Given the description of an element on the screen output the (x, y) to click on. 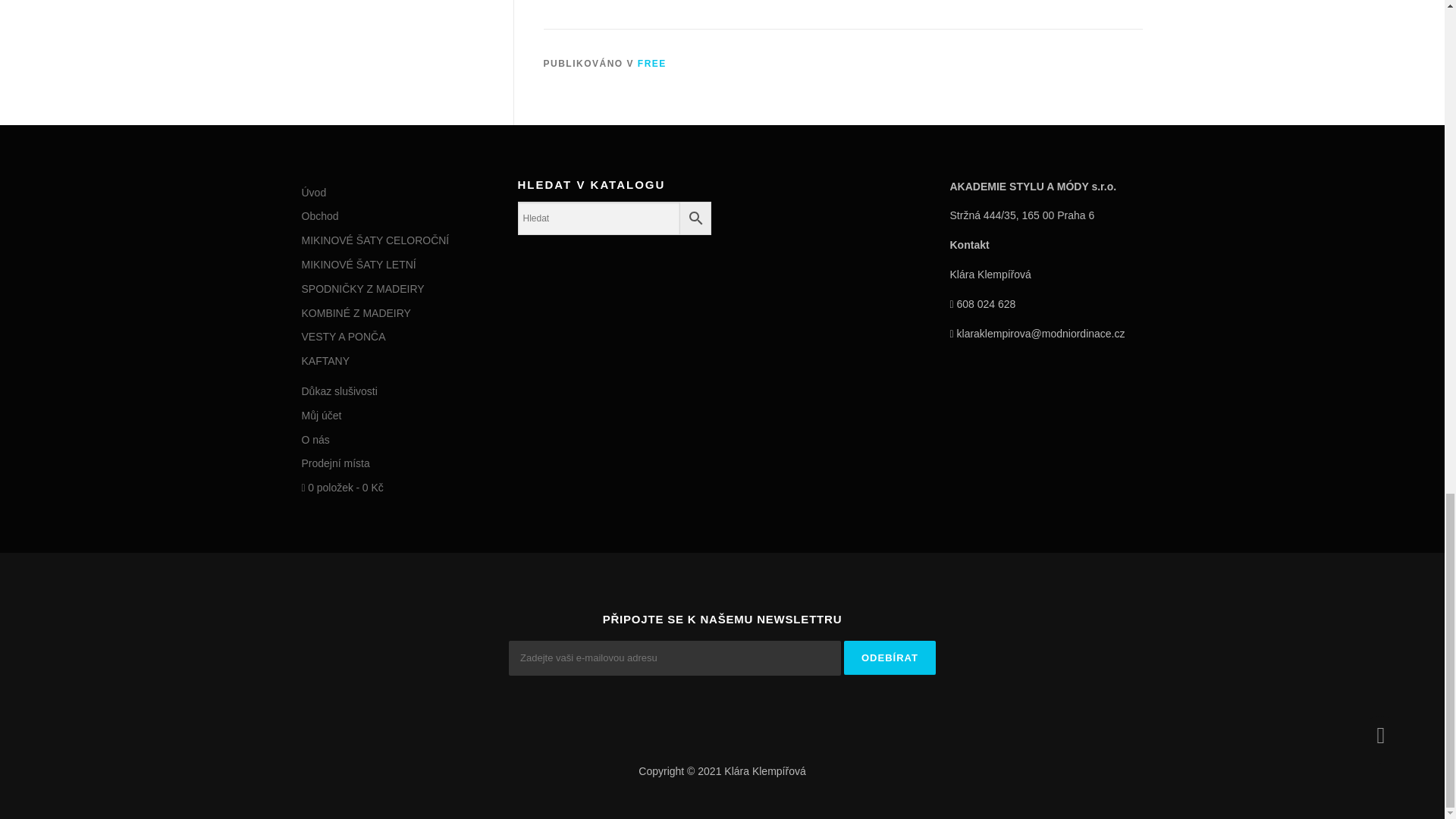
FREE (651, 63)
KAFTANY (325, 360)
Obchod (320, 215)
